Given the description of an element on the screen output the (x, y) to click on. 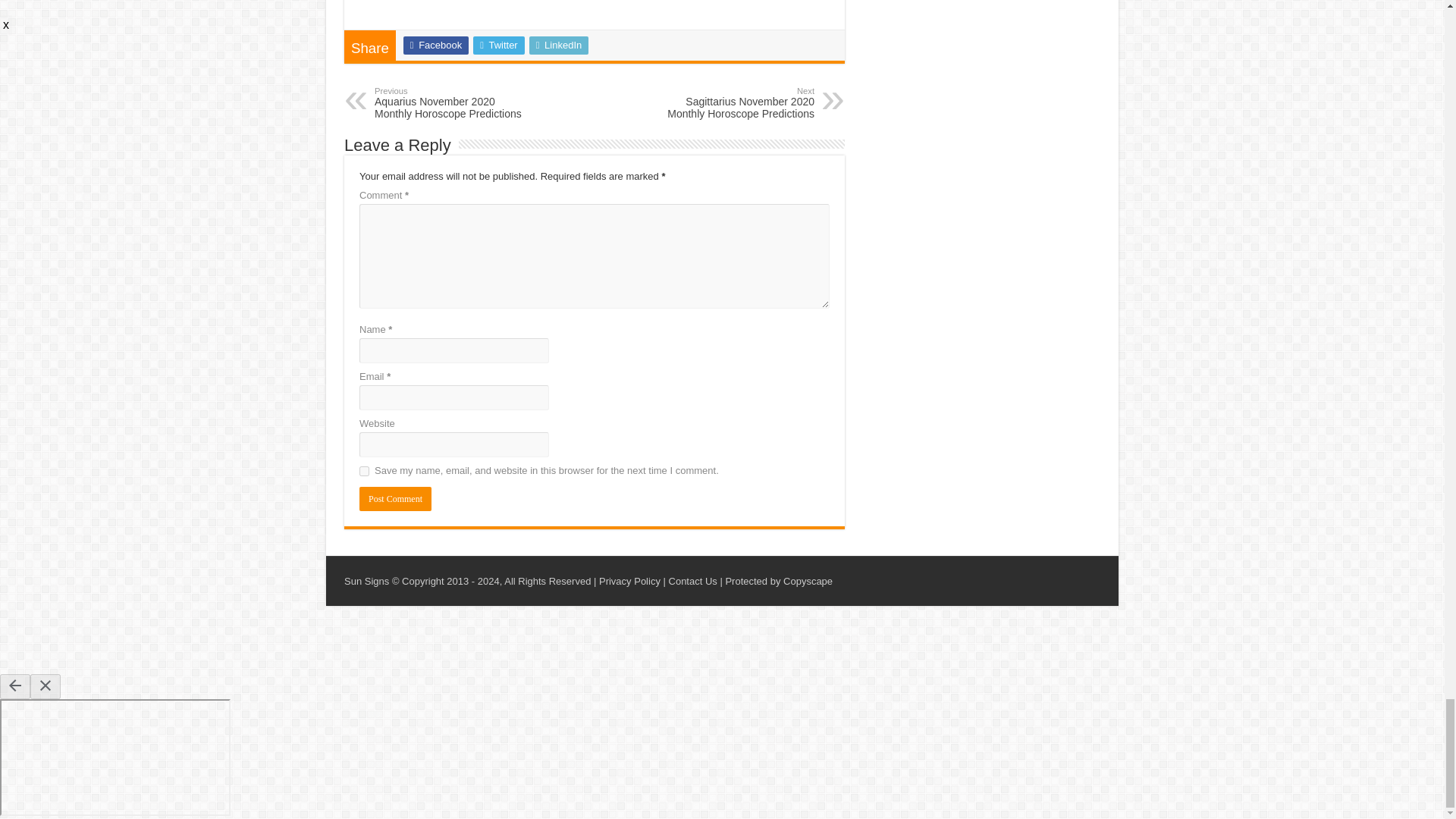
Post Comment (394, 498)
yes (364, 470)
